Given the description of an element on the screen output the (x, y) to click on. 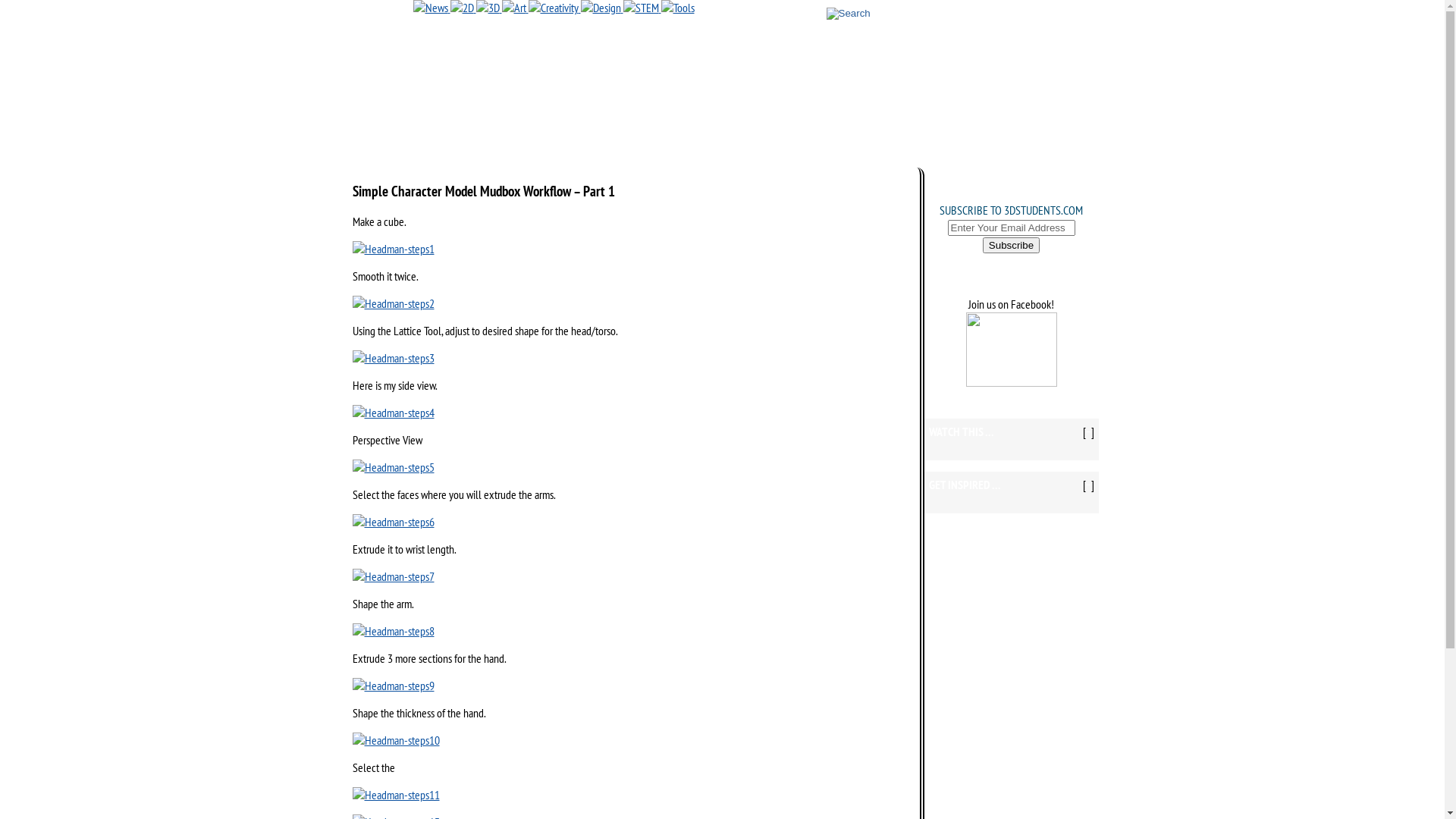
Headman-steps11 Element type: hover (395, 794)
Headman-steps4 Element type: hover (392, 412)
Headman-steps1 Element type: hover (392, 248)
Headman-steps8 Element type: hover (392, 630)
3DStudents.com Element type: hover (1011, 381)
Headman-steps9 Element type: hover (392, 685)
Subscribe Element type: text (1010, 245)
Headman-steps7 Element type: hover (392, 575)
Headman-steps6 Element type: hover (392, 521)
Headman-steps3 Element type: hover (392, 357)
Headman-steps10 Element type: hover (395, 739)
Headman-steps5 Element type: hover (392, 466)
Headman-steps2 Element type: hover (392, 302)
